Given the description of an element on the screen output the (x, y) to click on. 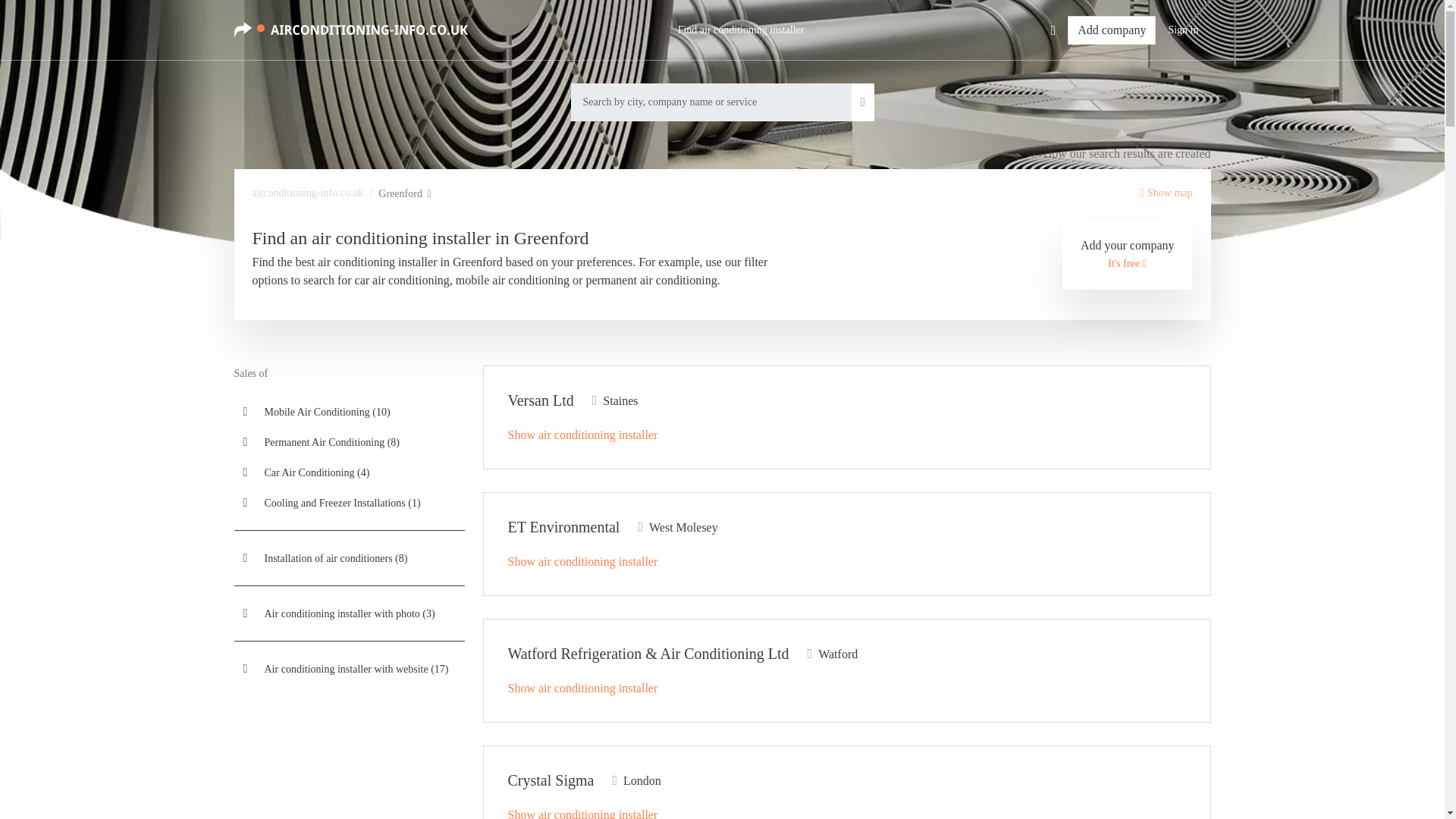
Find air conditioning installer (740, 29)
Add company (1111, 29)
